Given the description of an element on the screen output the (x, y) to click on. 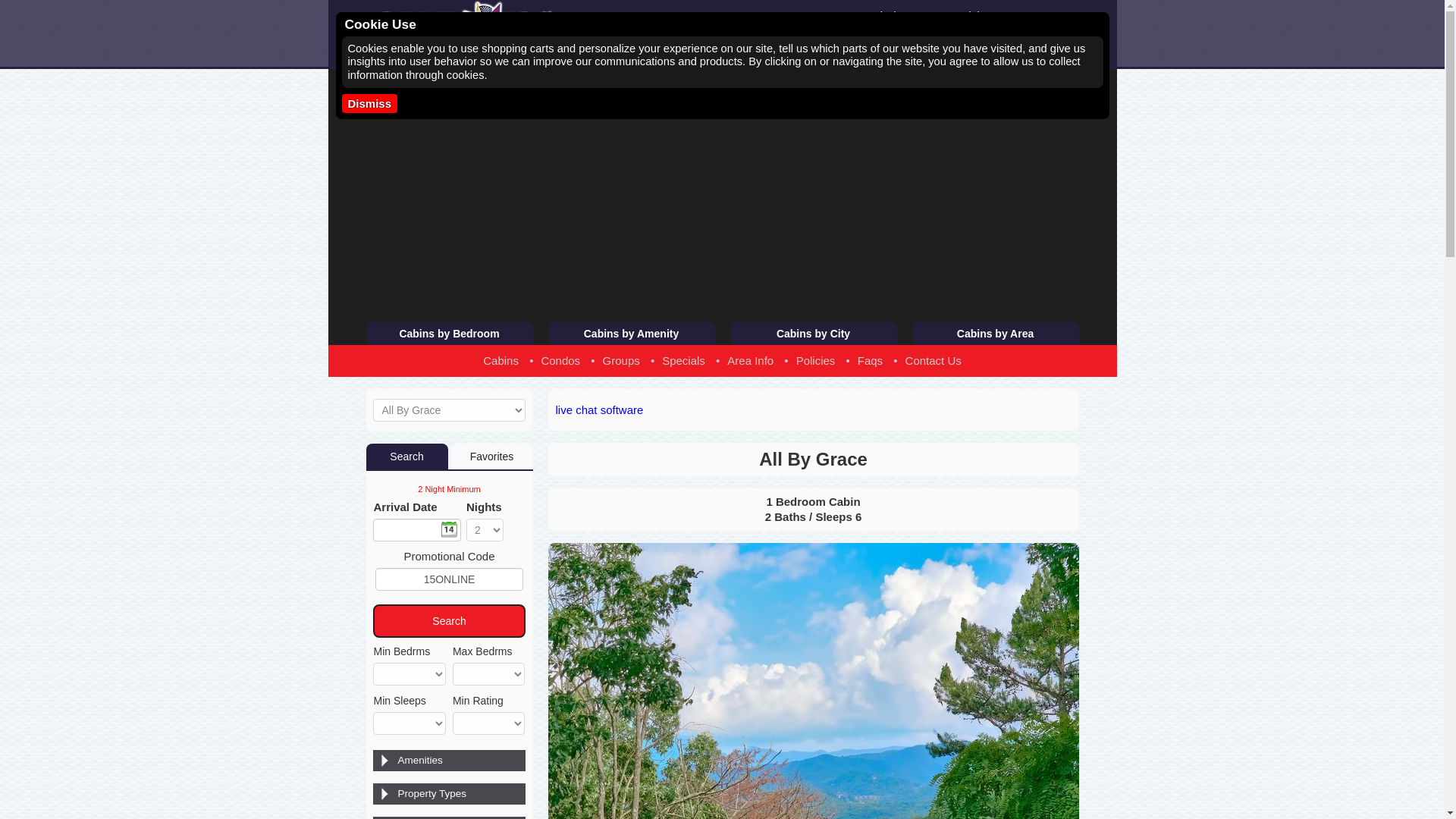
Search (1046, 37)
Search (448, 621)
Cabins by Bedroom (448, 333)
Cabins by Area (994, 333)
15ONLINE (449, 579)
Cabins by City (812, 333)
Search (1046, 37)
Cabins by Amenity (630, 333)
... (942, 37)
Cabins USA Gatlinburg (486, 31)
